Given the description of an element on the screen output the (x, y) to click on. 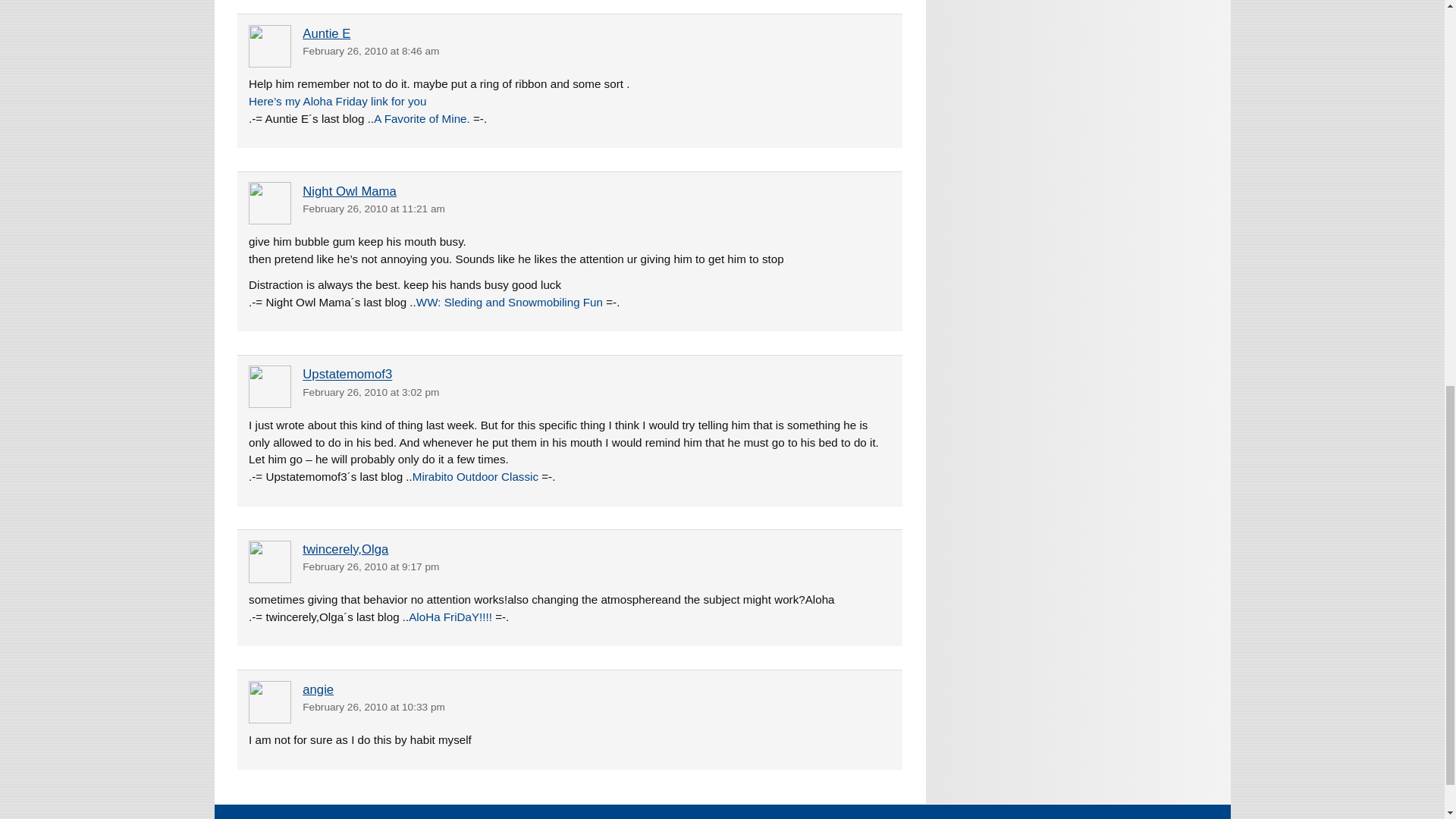
Upstatemomof3 (346, 374)
Auntie E (326, 33)
February 26, 2010 at 8:46 am (370, 50)
twincerely,Olga (345, 549)
A Favorite of Mine. (422, 118)
WW: Sleding and Snowmobiling Fun (509, 301)
Mirabito Outdoor Classic (475, 476)
Night Owl Mama (349, 191)
February 26, 2010 at 11:21 am (373, 208)
February 26, 2010 at 3:02 pm (370, 392)
